Given the description of an element on the screen output the (x, y) to click on. 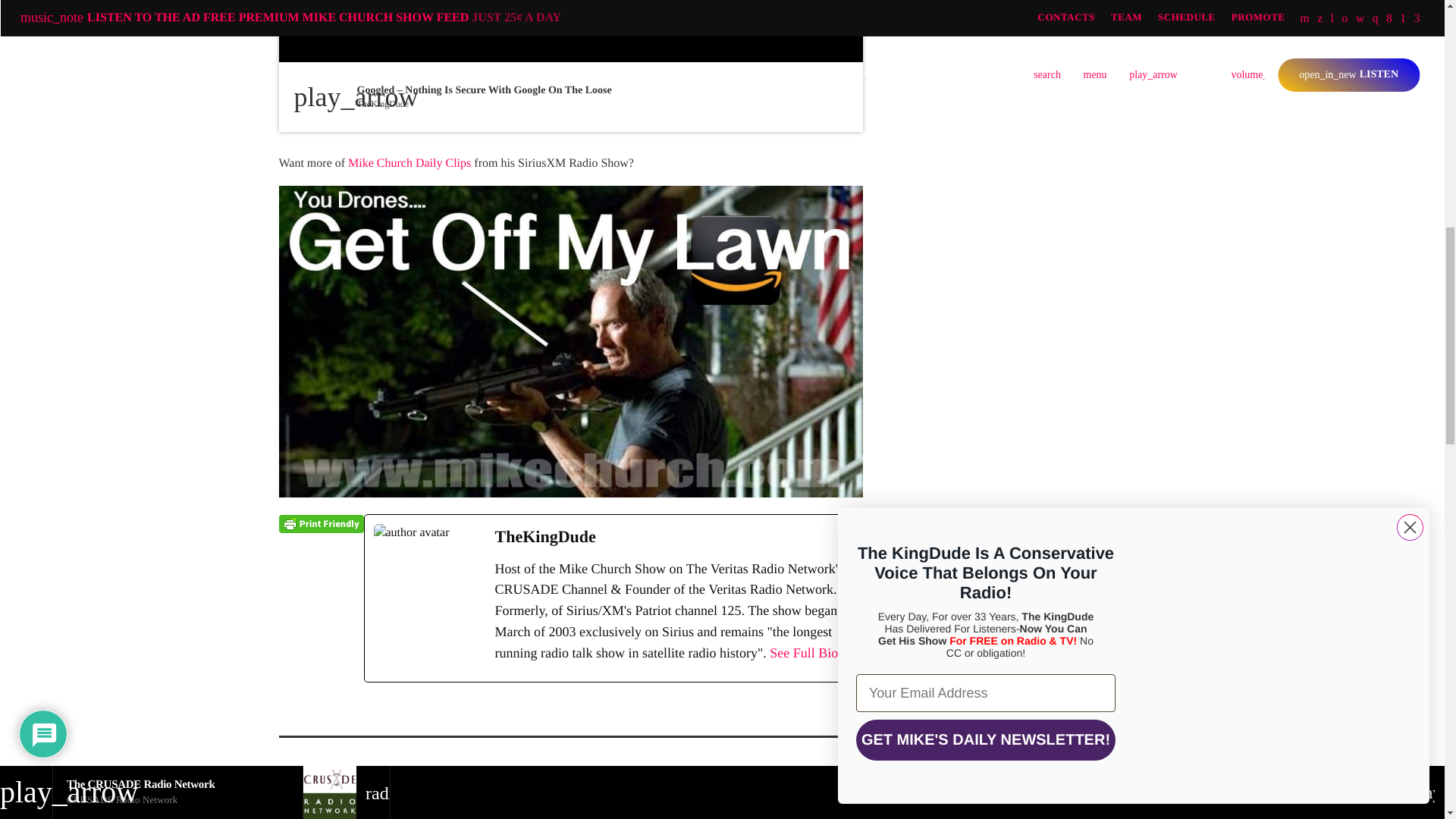
The Clip Of The Day Archive (408, 163)
